Given the description of an element on the screen output the (x, y) to click on. 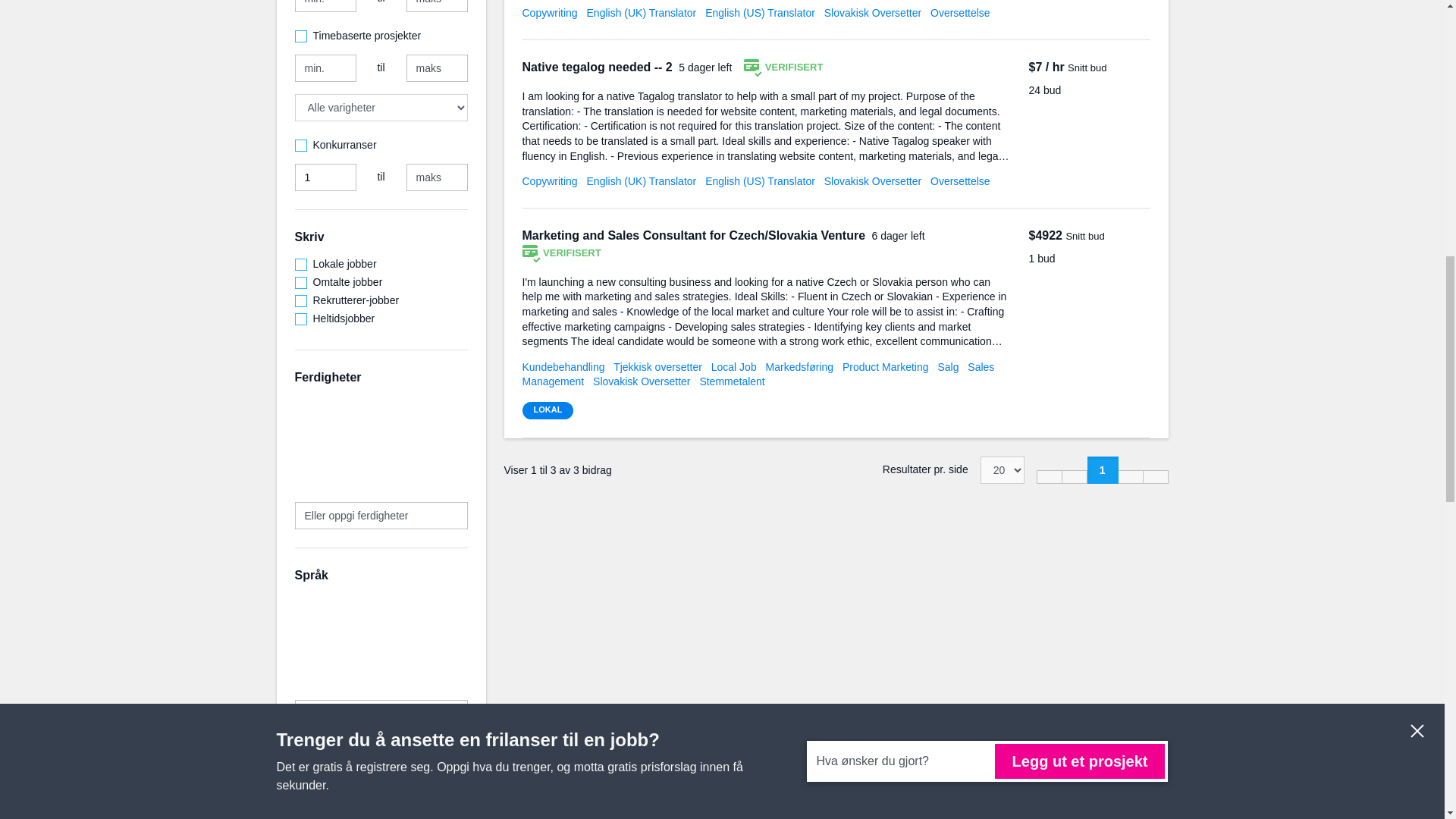
1 (324, 176)
Native tegalog needed -- 2 (598, 66)
Oversettelse (960, 12)
Copywriting (548, 181)
Kundebehandling (562, 367)
Slovakisk Oversetter (872, 12)
Tjekkisk oversetter (656, 367)
Copywriting (548, 12)
Slovakisk Oversetter (872, 181)
Oversettelse (960, 181)
